Given the description of an element on the screen output the (x, y) to click on. 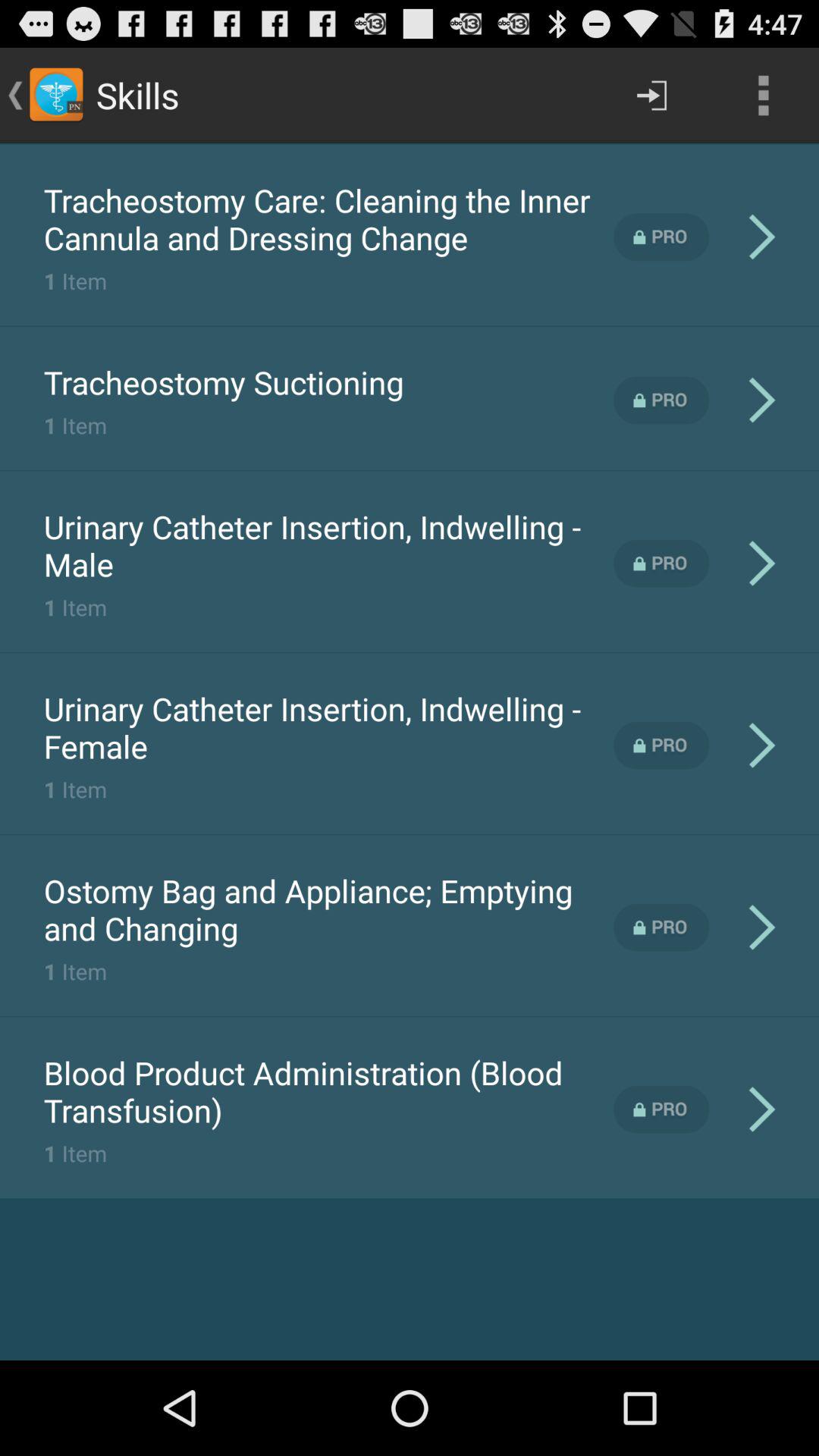
purchase this test (661, 745)
